Given the description of an element on the screen output the (x, y) to click on. 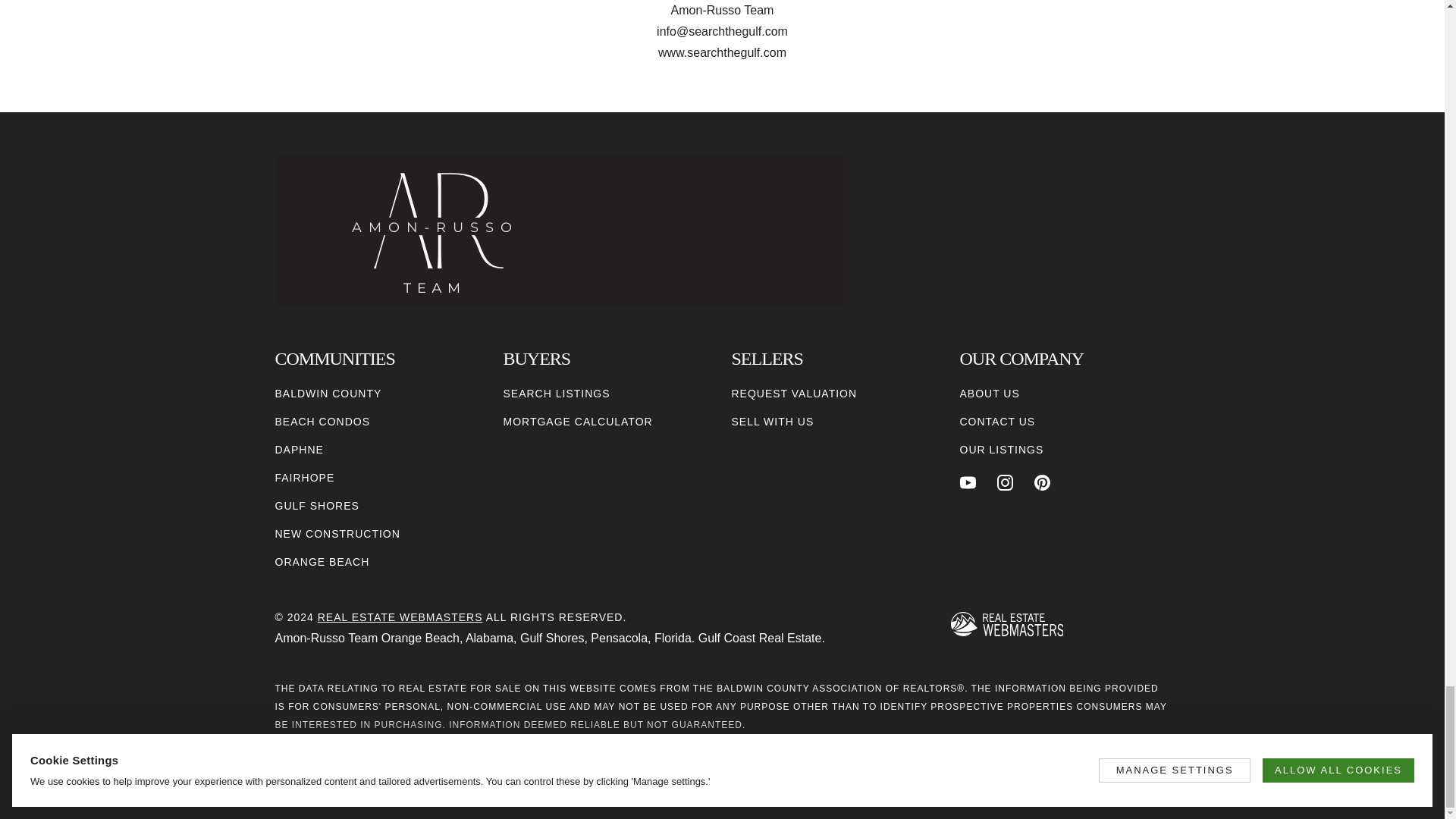
YOUTUBE (967, 482)
www.searchthegulf.com (722, 51)
BALDWIN COUNTY (328, 393)
GULF SHORES (316, 505)
PINTEREST ICON (1041, 482)
BEACH CONDOS (322, 421)
FAIRHOPE (304, 478)
DAPHNE (299, 449)
